Given the description of an element on the screen output the (x, y) to click on. 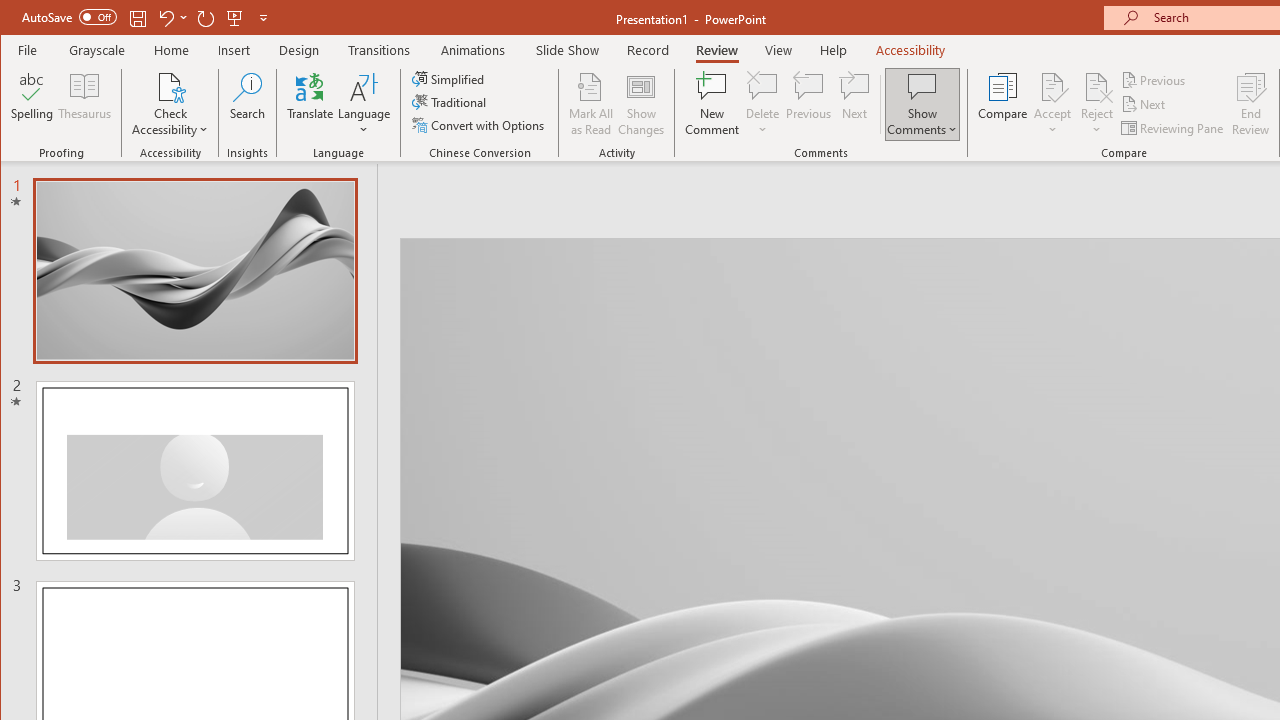
Show Changes (640, 104)
Reject (1096, 104)
Translate (310, 104)
Accept Change (1052, 86)
Compare (1002, 104)
